Given the description of an element on the screen output the (x, y) to click on. 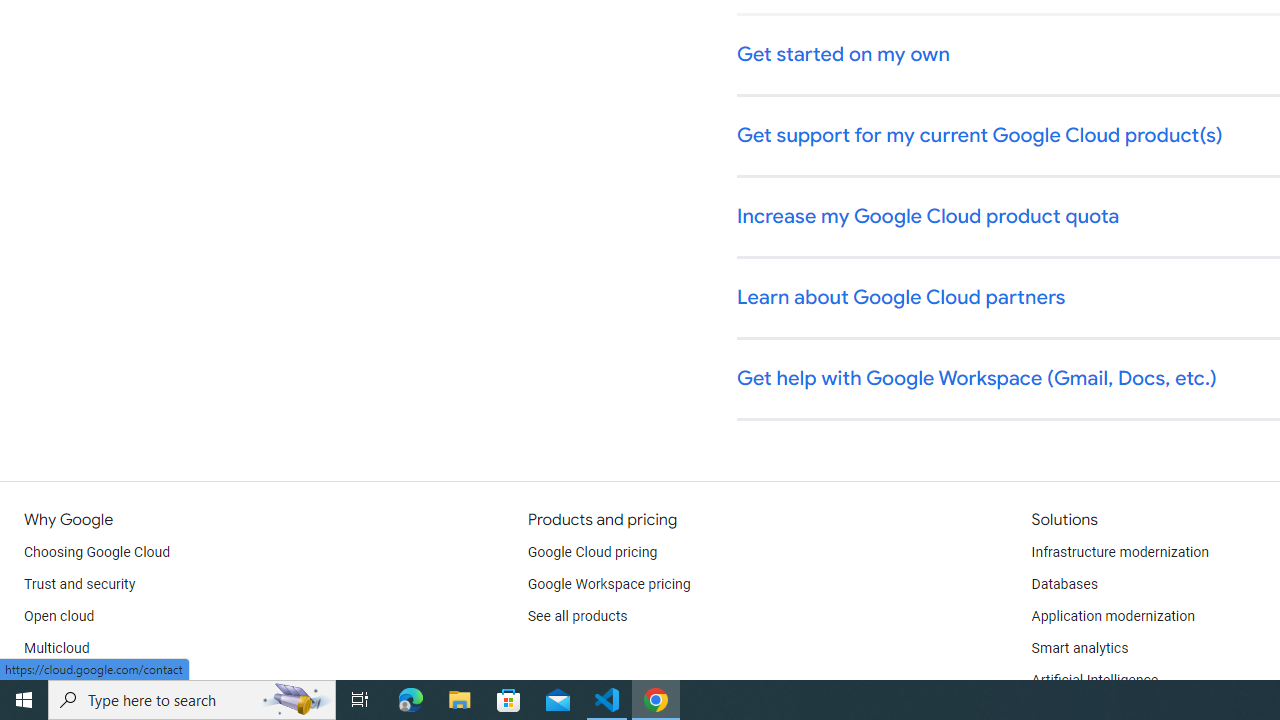
Artificial Intelligence (1094, 680)
Multicloud (56, 648)
Trust and security (79, 584)
Open cloud (59, 616)
Databases (1064, 584)
Choosing Google Cloud (97, 552)
Application modernization (1112, 616)
Google Workspace pricing (609, 584)
Infrastructure modernization (1119, 552)
See all products (577, 616)
Global infrastructure (88, 680)
Smart analytics (1079, 648)
Google Cloud pricing (592, 552)
